Given the description of an element on the screen output the (x, y) to click on. 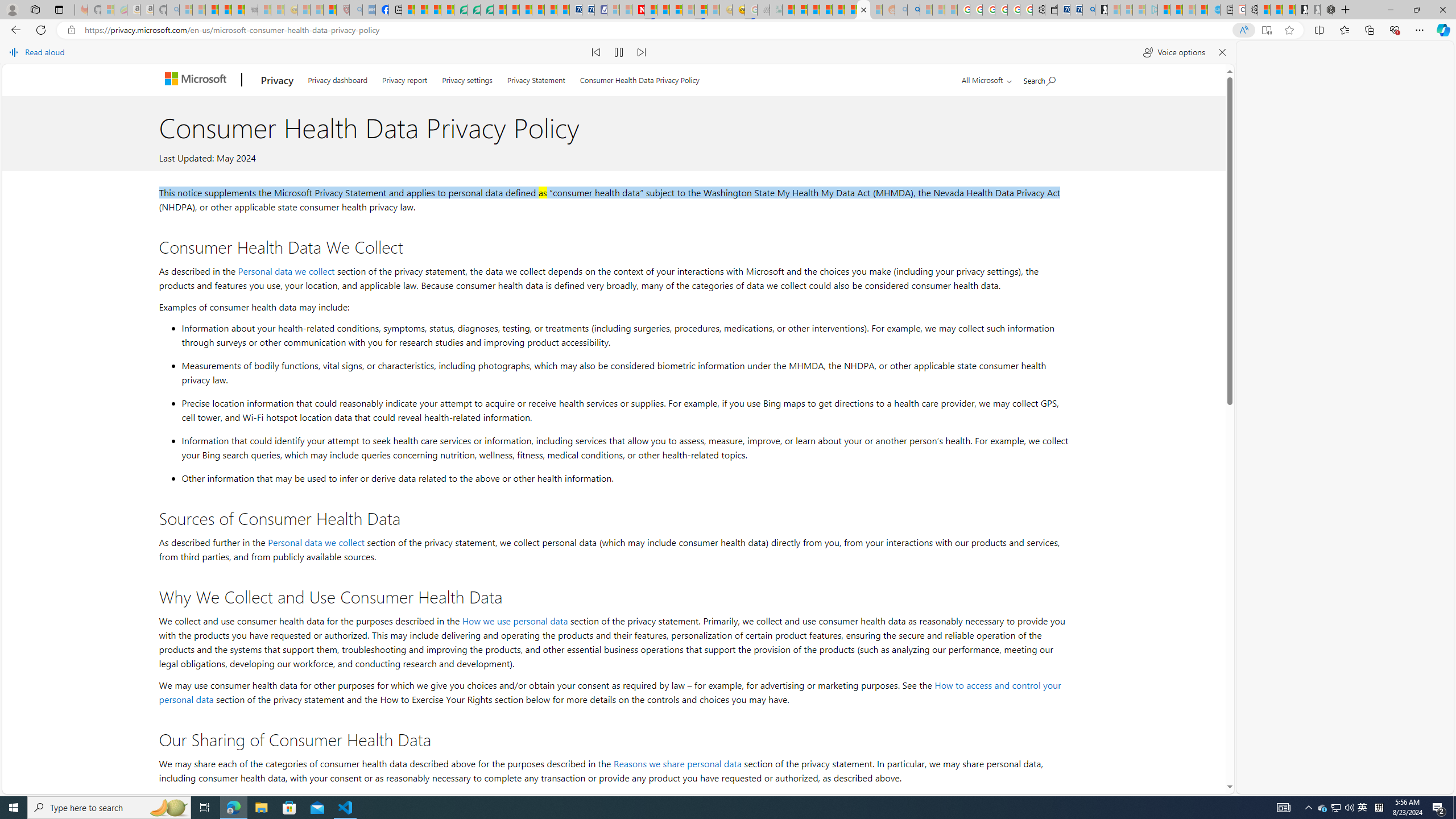
Microsoft Word - consumer-privacy address update 2.2021 (486, 9)
Microsoft Start Gaming (1101, 9)
Privacy dashboard (337, 77)
Microsoft account | Privacy - Sleeping (1139, 9)
Microsoft (197, 79)
Microsoft account | Privacy (801, 9)
Cheap Hotels - Save70.com (587, 9)
Privacy dashboard (337, 77)
Pause read aloud (Ctrl+Shift+U) (618, 52)
Privacy (276, 79)
